Given the description of an element on the screen output the (x, y) to click on. 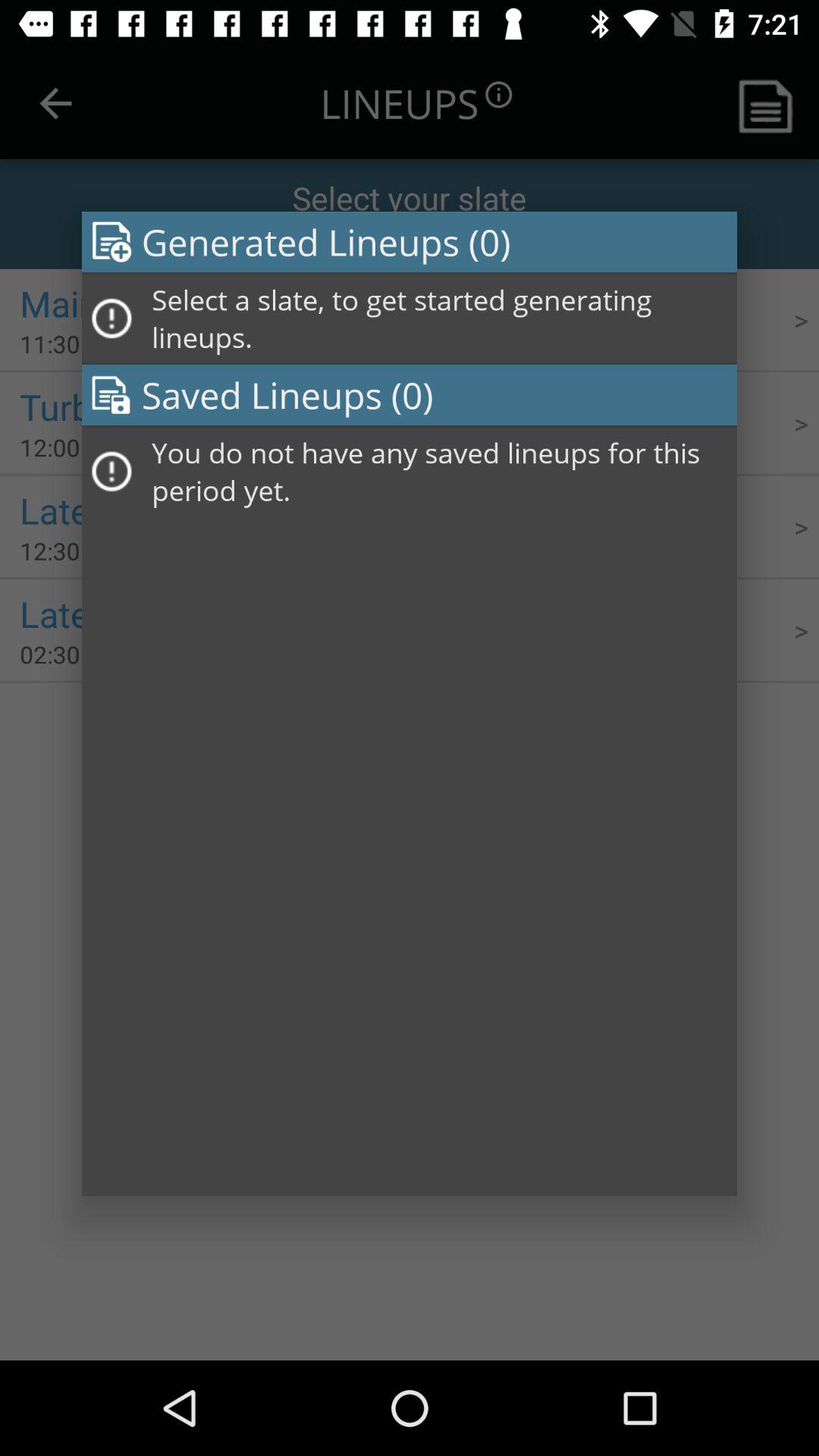
scroll to you do not icon (438, 471)
